Given the description of an element on the screen output the (x, y) to click on. 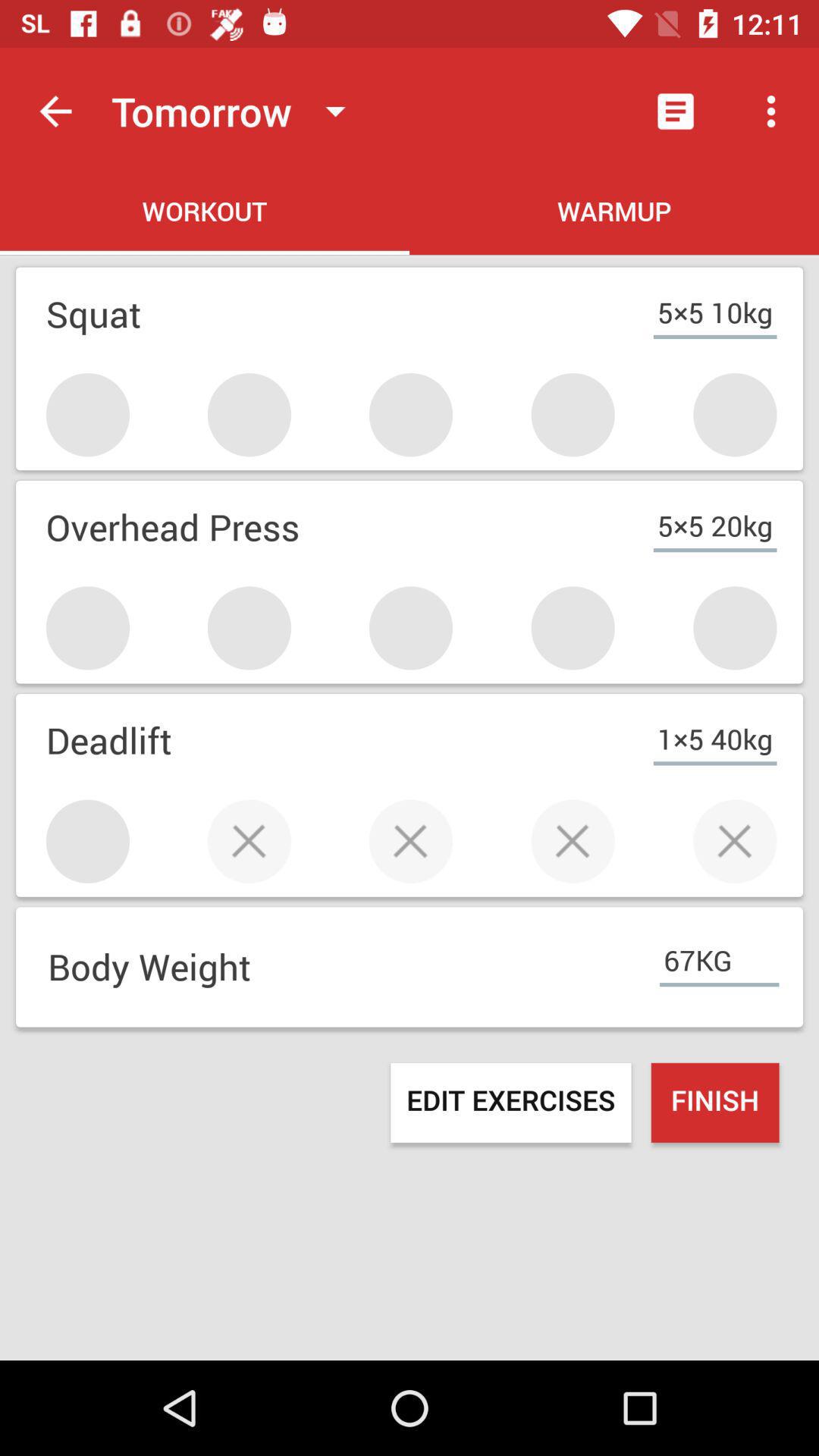
press the item to the left of tomorrow item (55, 111)
